Given the description of an element on the screen output the (x, y) to click on. 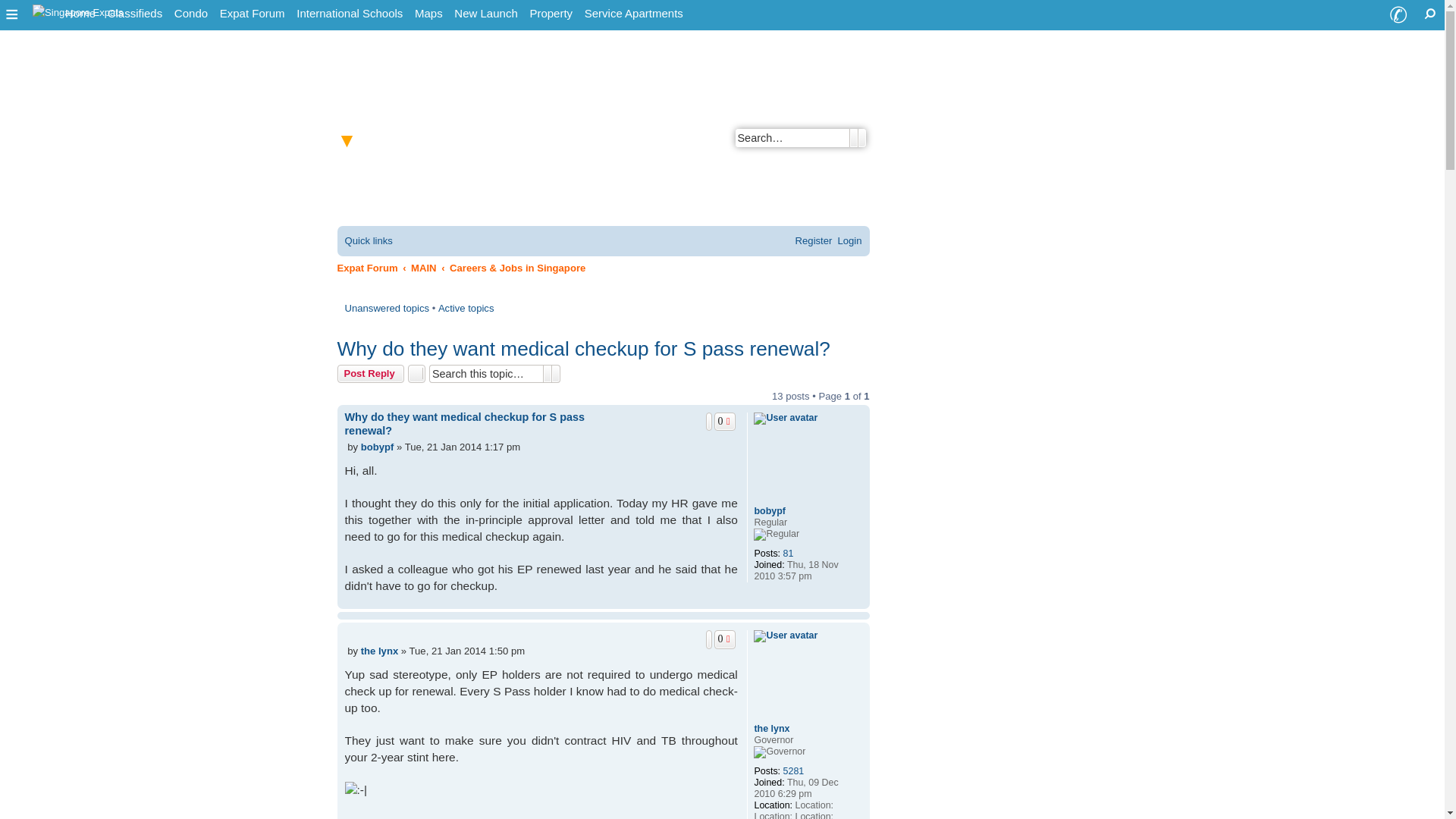
International Schools (349, 13)
Maps (428, 13)
Singapore Expats Forum (252, 13)
Property (550, 13)
Singapore International Schools (349, 13)
Singapore Property (550, 13)
Condo (191, 13)
Home (80, 13)
Expat Forum (252, 13)
Singapore Street Maps (428, 13)
